Given the description of an element on the screen output the (x, y) to click on. 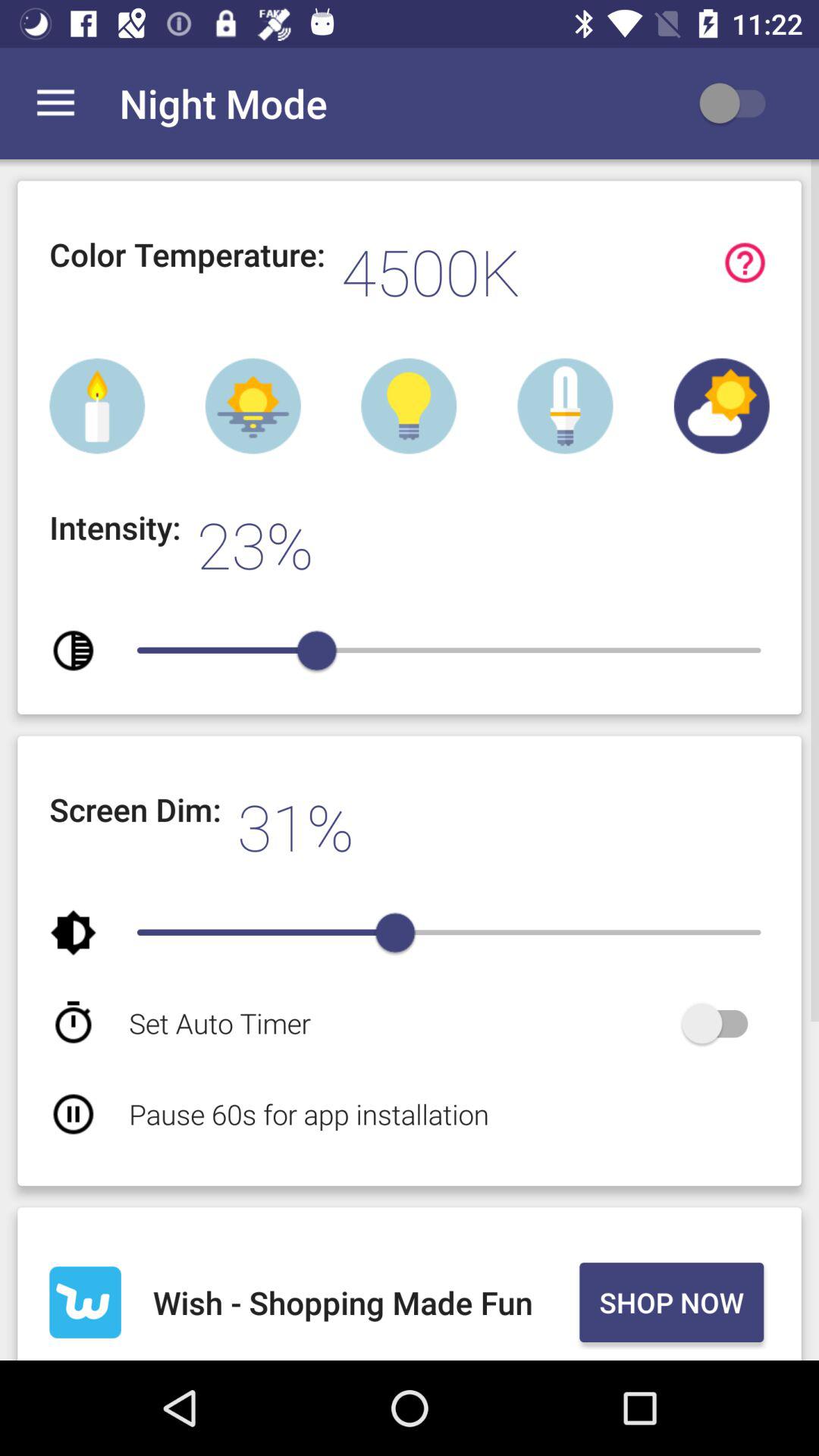
toggle auto timer option (722, 1023)
